Given the description of an element on the screen output the (x, y) to click on. 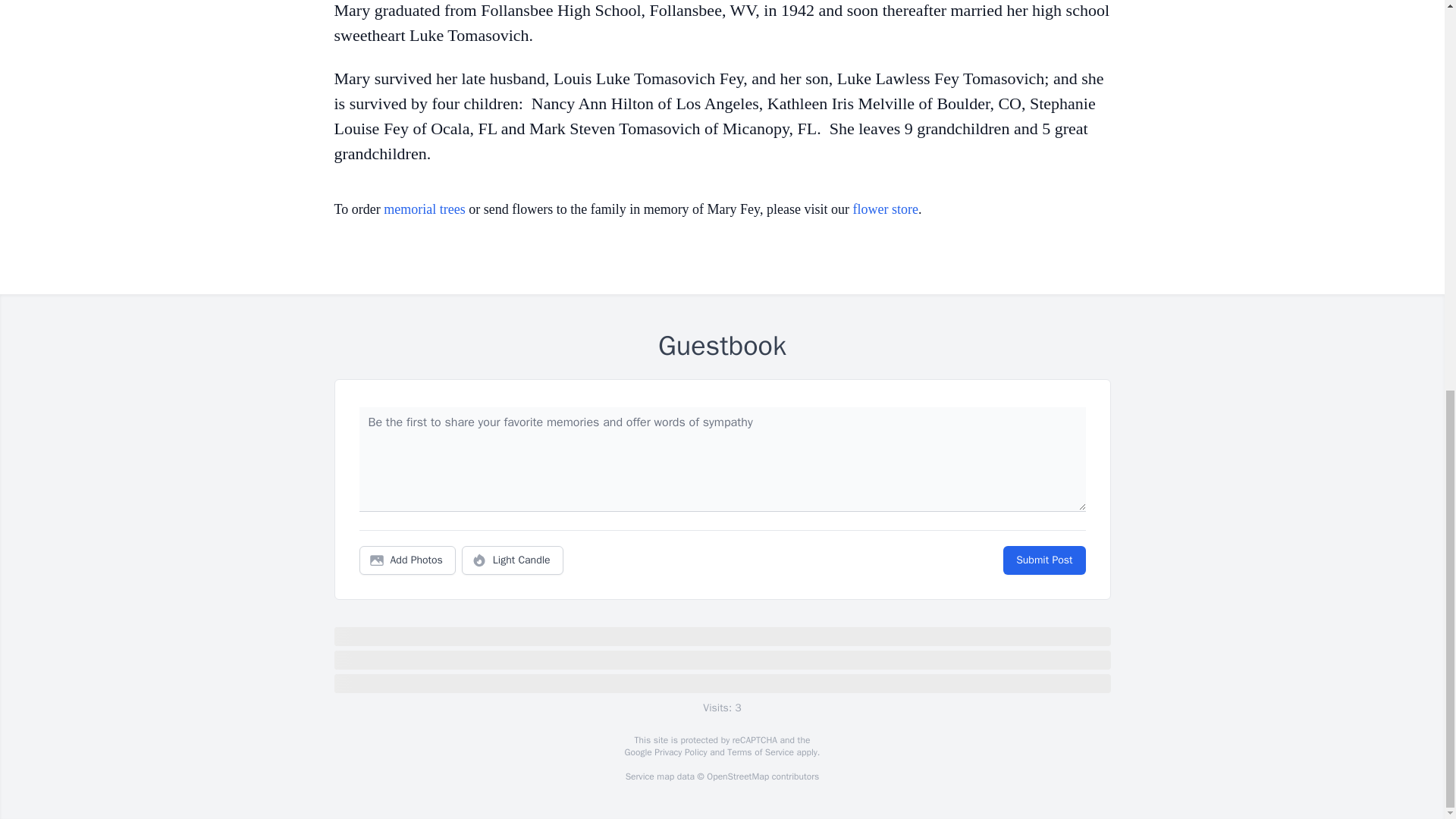
OpenStreetMap (737, 776)
Privacy Policy (679, 752)
Terms of Service (759, 752)
flower store (884, 209)
Light Candle (512, 560)
memorial trees (424, 209)
Add Photos (407, 560)
Submit Post (1043, 560)
